Given the description of an element on the screen output the (x, y) to click on. 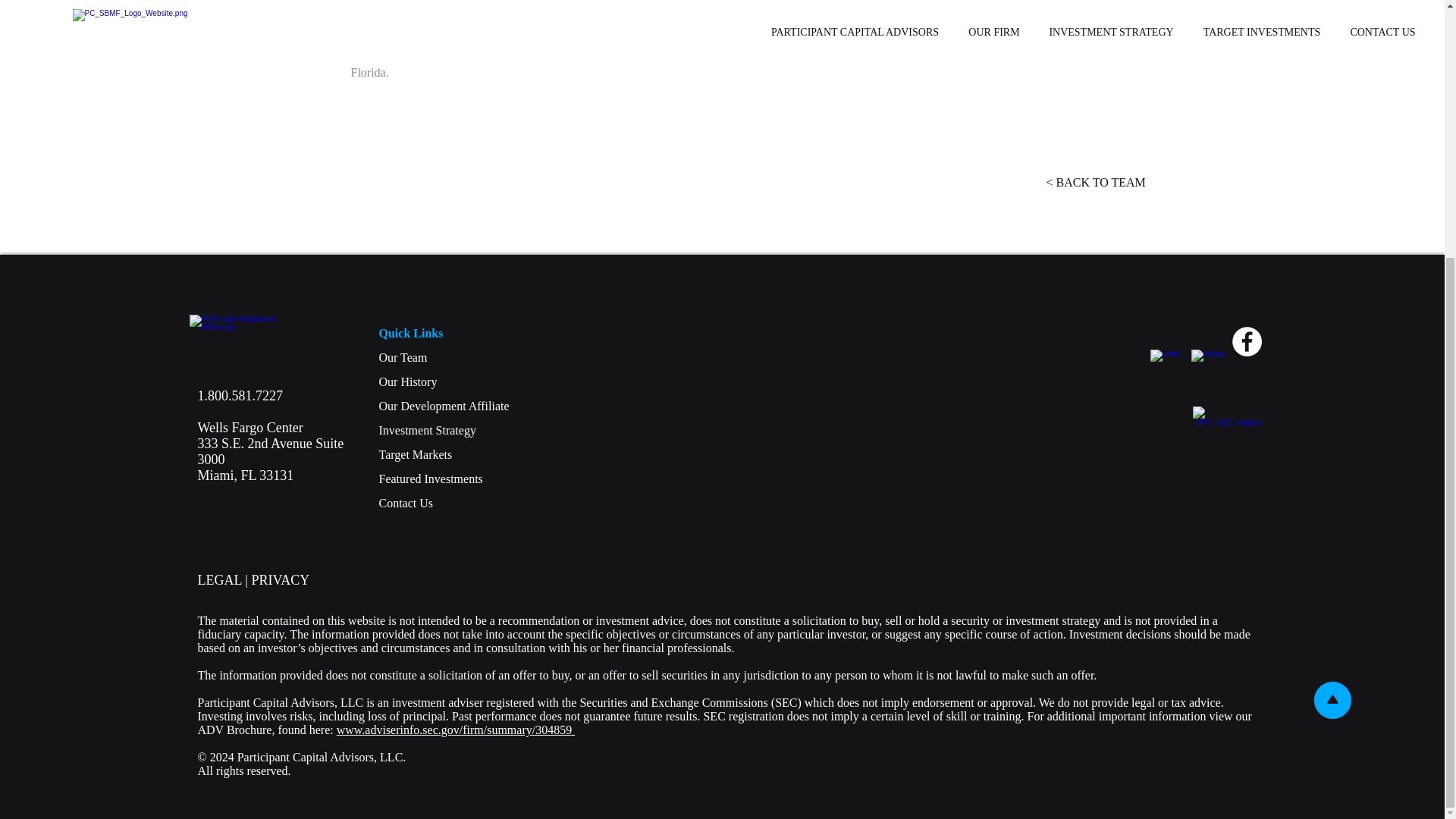
Target Markets (415, 454)
Our Development Affiliate (443, 405)
LEGAL (218, 580)
Our Team (403, 357)
Contact Us (249, 411)
Investment Strategy (405, 502)
Our History (427, 430)
Featured Investments (408, 381)
Daniela Ceballos (430, 478)
PRIVACY (989, 27)
